Given the description of an element on the screen output the (x, y) to click on. 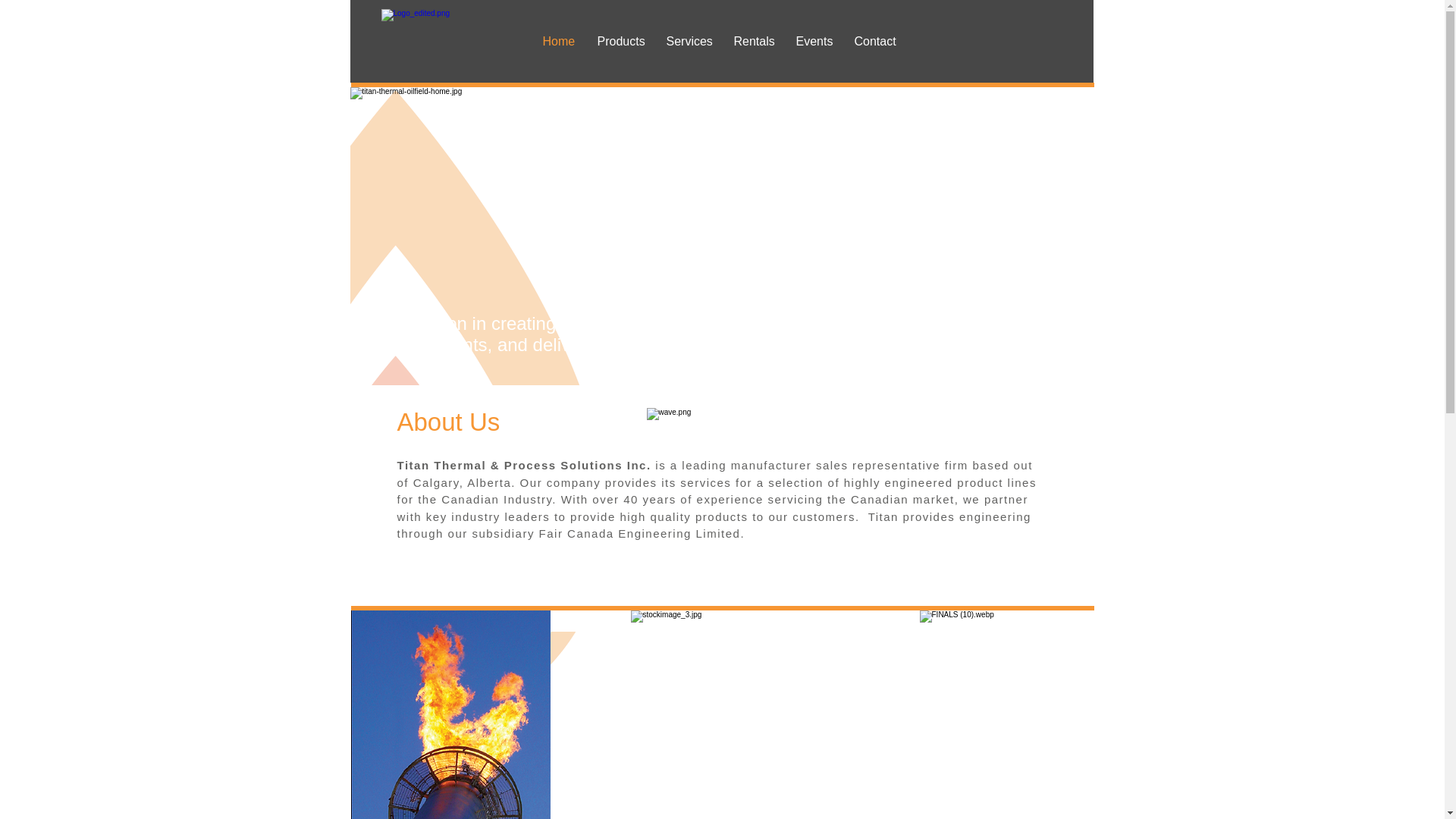
Contact (875, 40)
Services (688, 40)
Rentals (753, 40)
Events (813, 40)
Products (619, 40)
Home (558, 40)
